Given the description of an element on the screen output the (x, y) to click on. 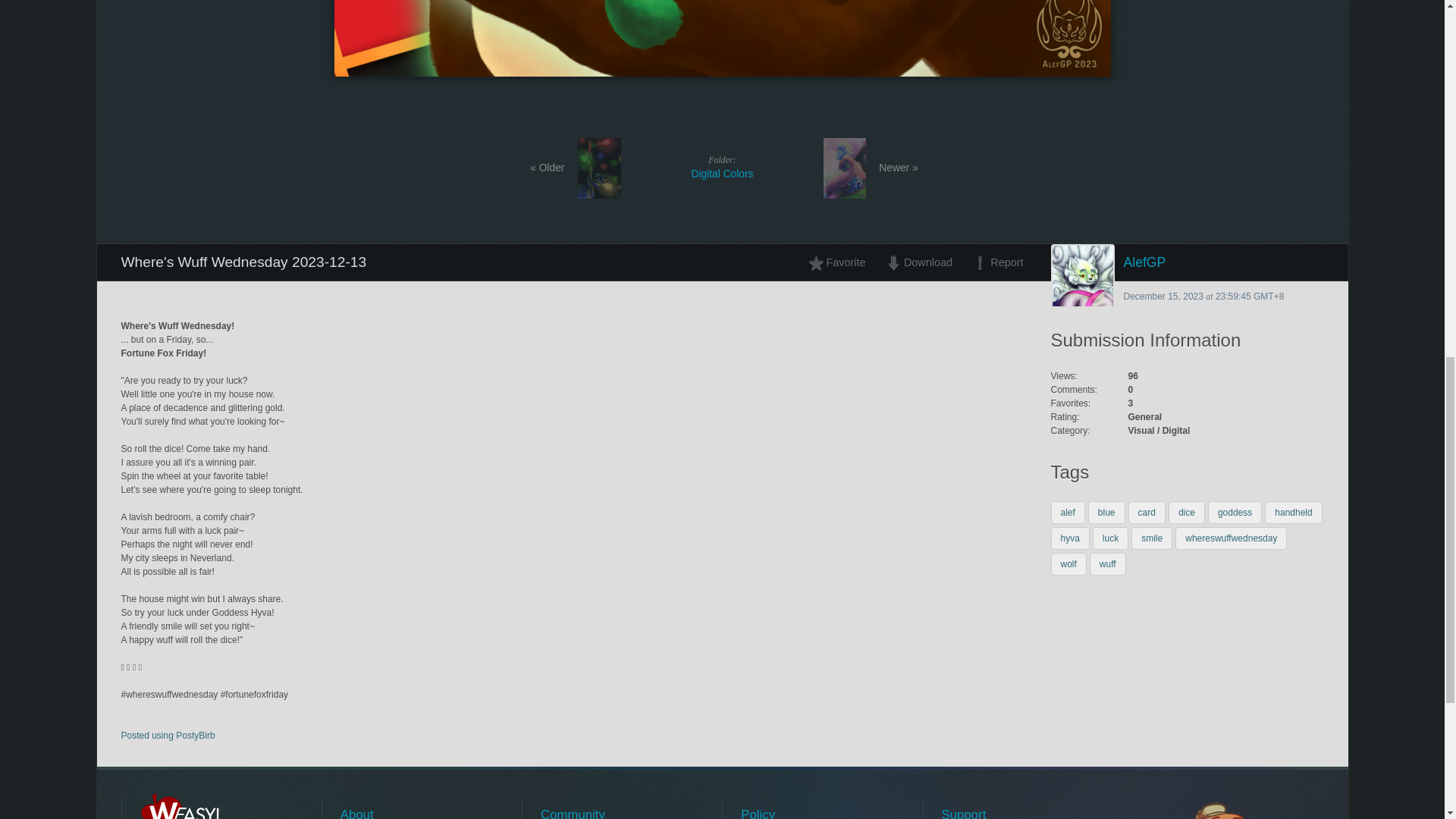
AlefGP (1187, 262)
hyva (1070, 538)
alef (1067, 512)
wuff (1107, 563)
card (1147, 512)
Download (918, 262)
Posted using PostyBirb (167, 735)
blue (1106, 512)
whereswuffwednesday (1230, 538)
dice (1187, 512)
Favorite (721, 166)
handheld (841, 262)
wolf (1293, 512)
Report (1068, 563)
